Given the description of an element on the screen output the (x, y) to click on. 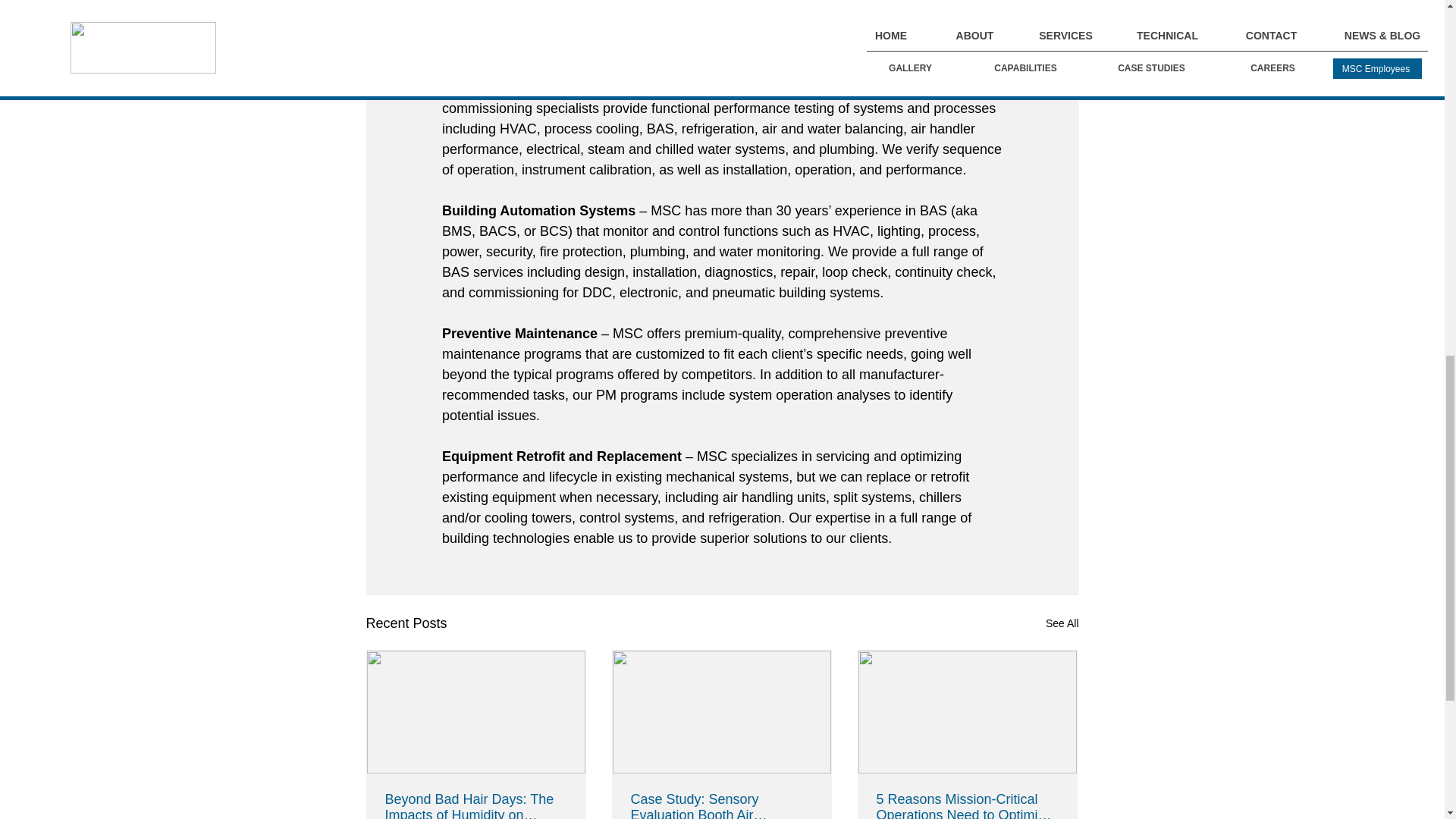
See All (1061, 623)
